Given the description of an element on the screen output the (x, y) to click on. 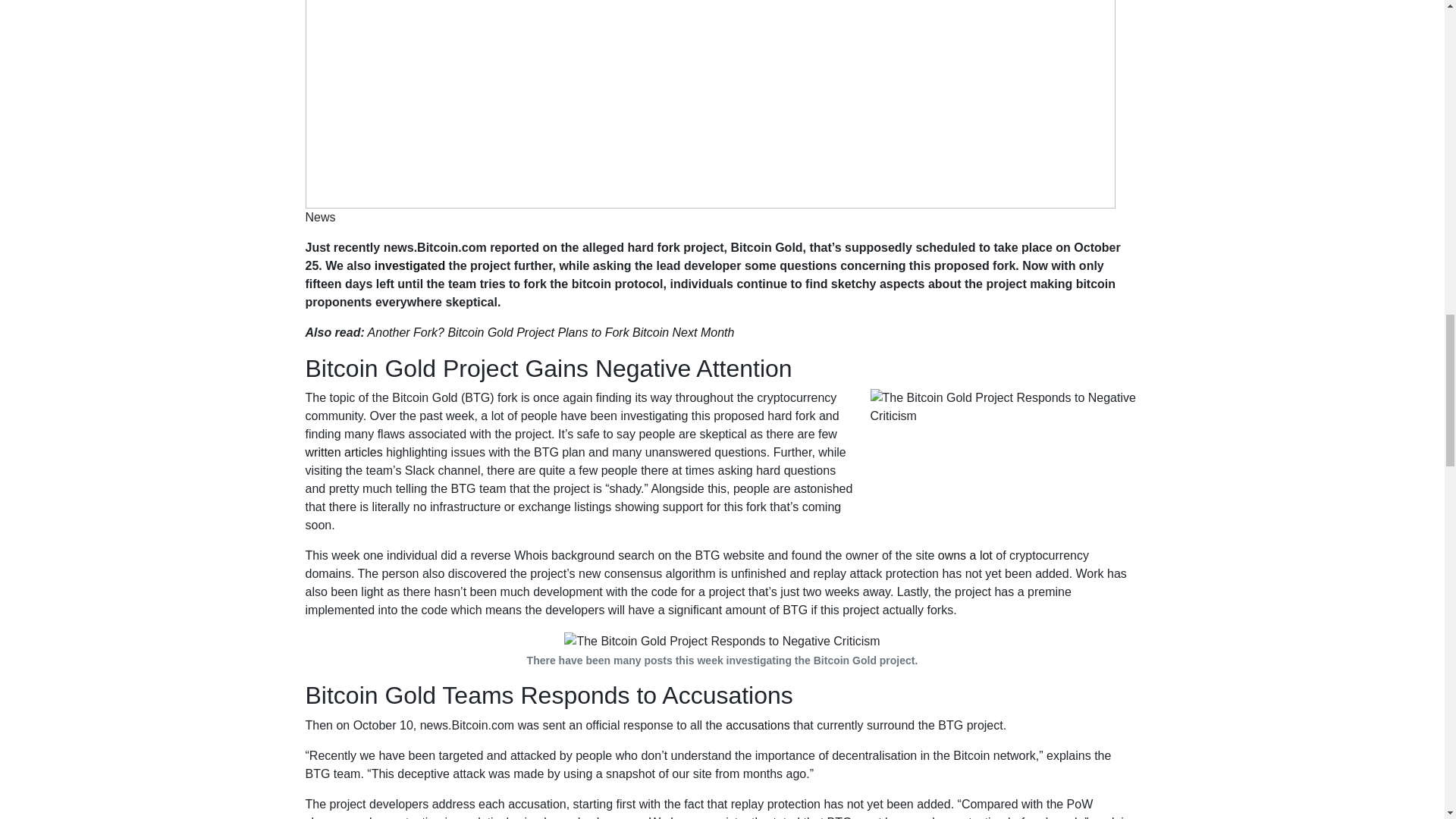
The Bitcoin Gold Project Responds to Negative Criticism (1005, 463)
The Bitcoin Gold Project Responds to Negative Criticism (721, 641)
